Given the description of an element on the screen output the (x, y) to click on. 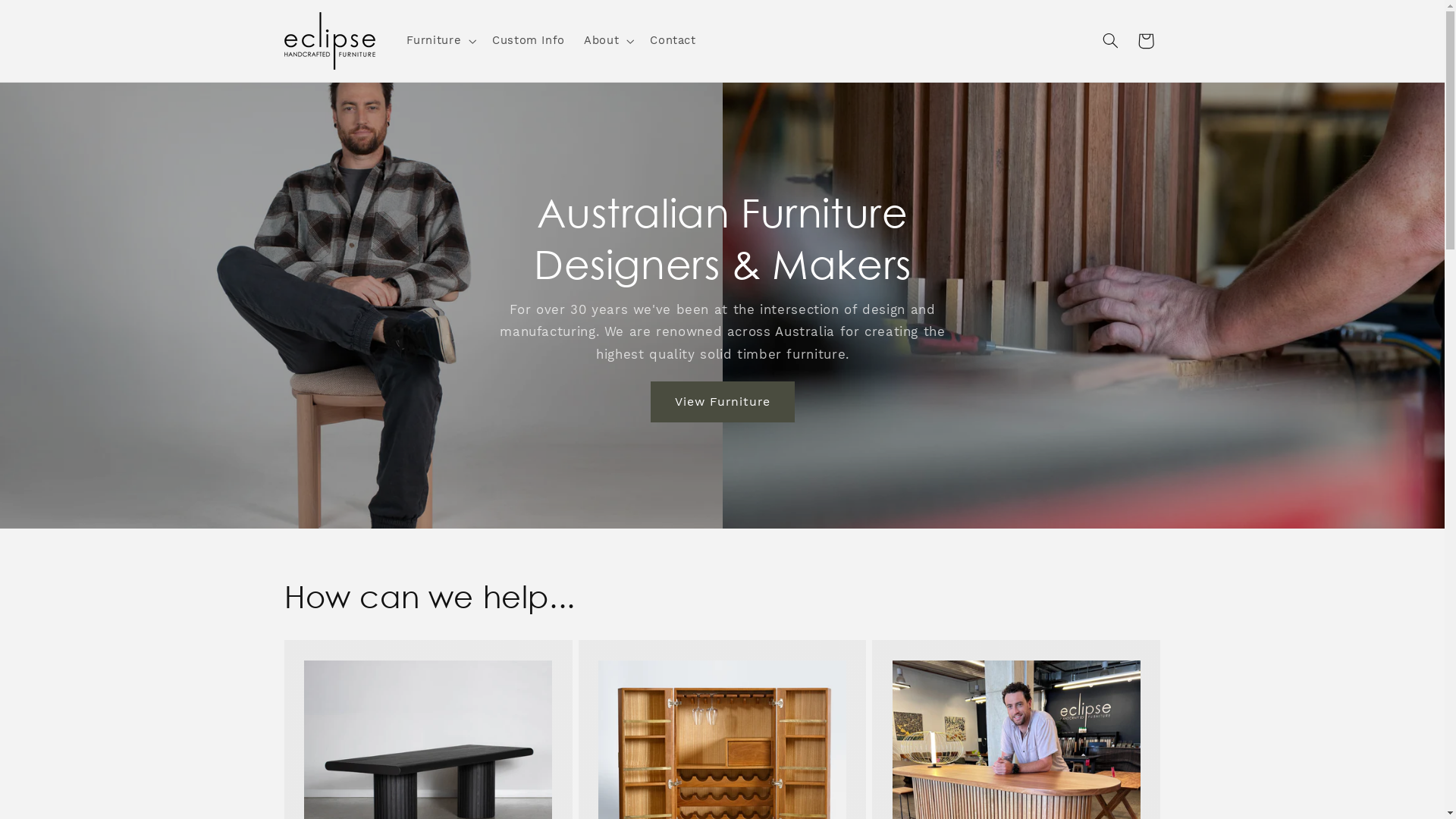
Contact Element type: text (673, 40)
Custom Info Element type: text (528, 40)
Cart Element type: text (1145, 40)
View Furniture Element type: text (722, 402)
